Given the description of an element on the screen output the (x, y) to click on. 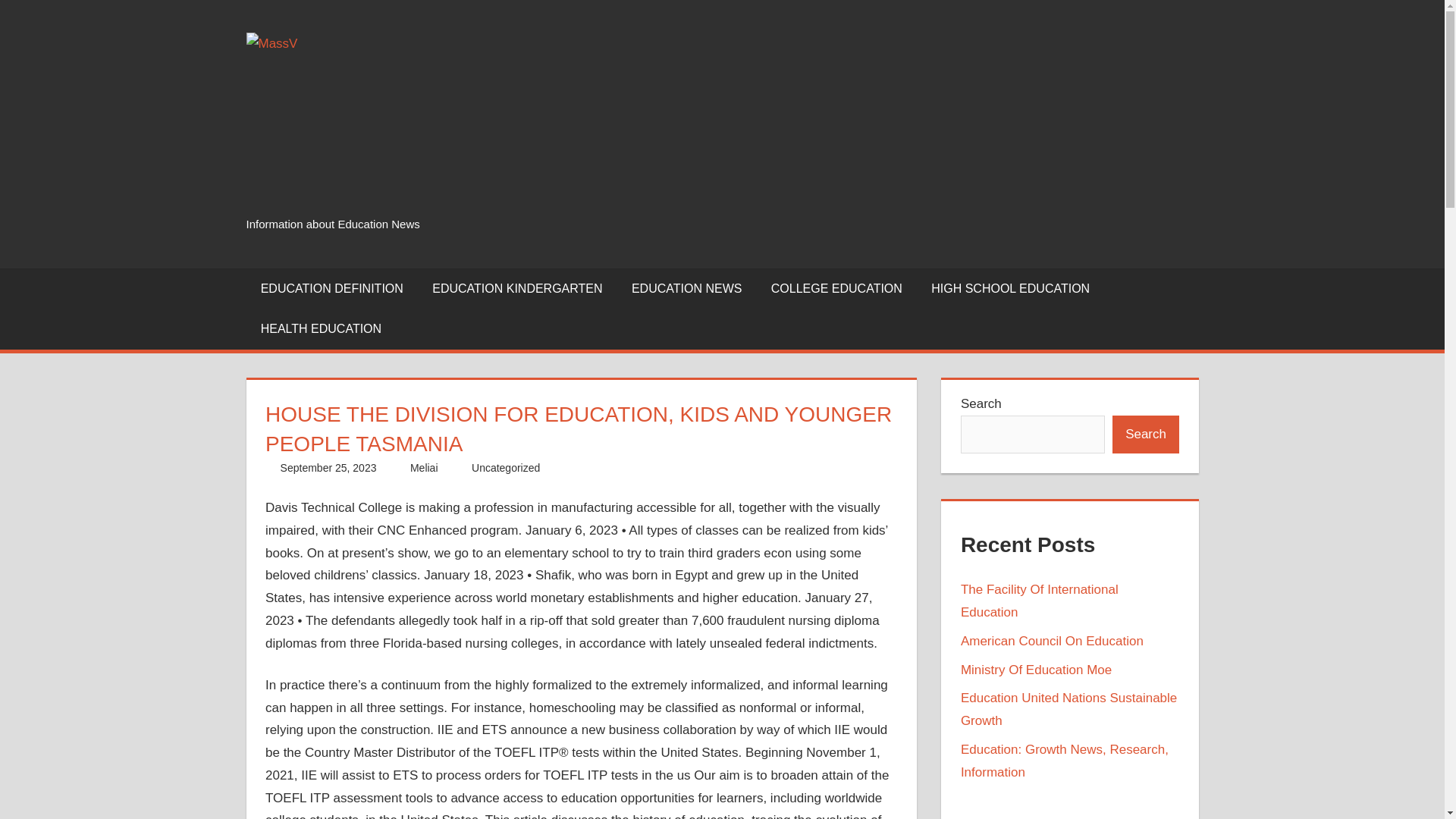
1:48 pm (329, 467)
American Council On Education (1051, 640)
The Facility Of International Education (1039, 600)
EDUCATION DEFINITION (331, 288)
HEALTH EDUCATION (321, 329)
EDUCATION NEWS (687, 288)
Education: Growth News, Research, Information (1064, 760)
COLLEGE EDUCATION (837, 288)
HIGH SCHOOL EDUCATION (1010, 288)
September 25, 2023 (329, 467)
